Given the description of an element on the screen output the (x, y) to click on. 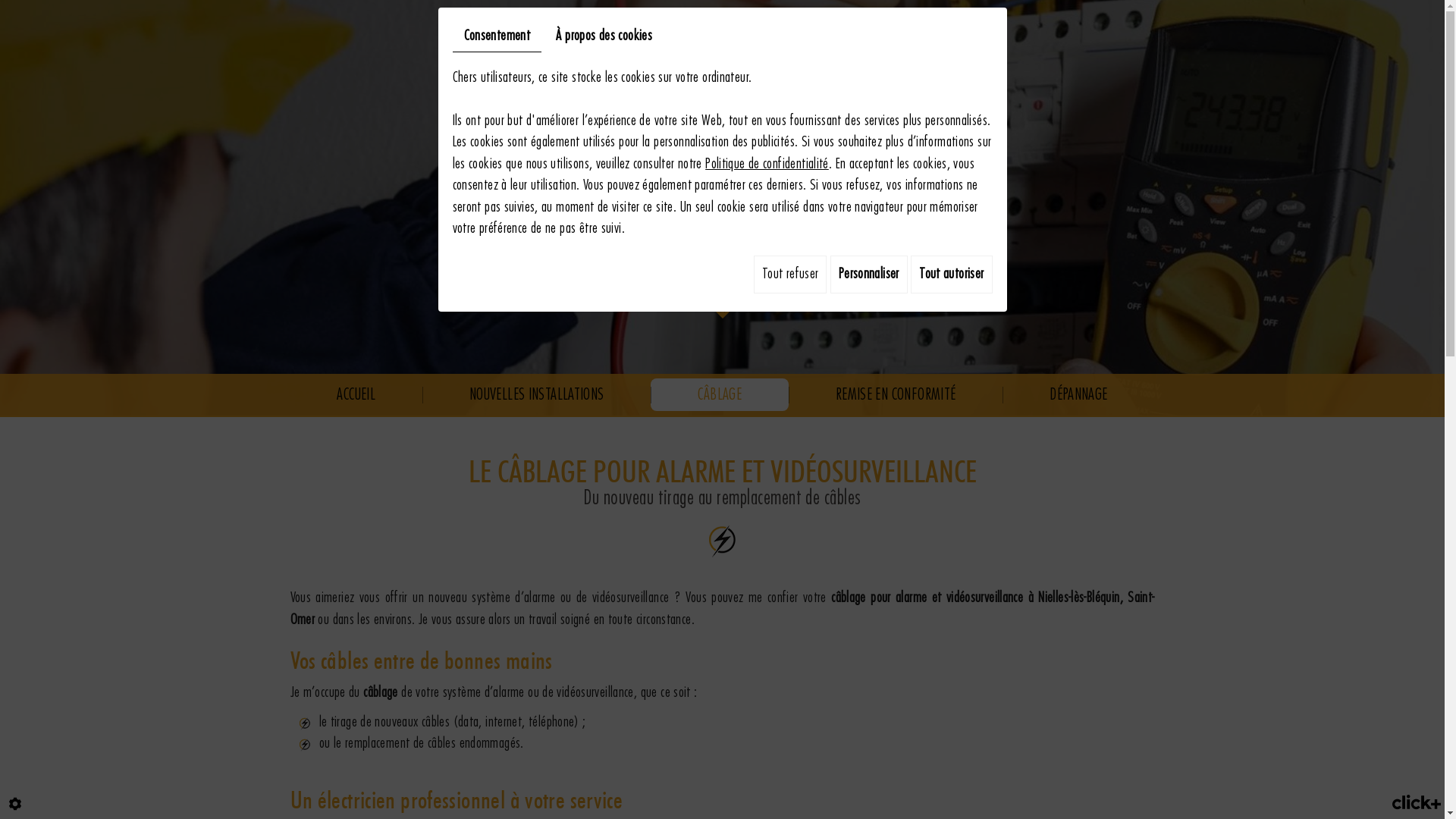
NOUVELLES INSTALLATIONS Element type: text (536, 394)
Personnaliser Element type: text (868, 273)
Tout autoriser Element type: text (950, 273)
ACCUEIL Element type: text (355, 394)
Consentement Element type: text (496, 36)
Tout refuser Element type: text (790, 273)
